Given the description of an element on the screen output the (x, y) to click on. 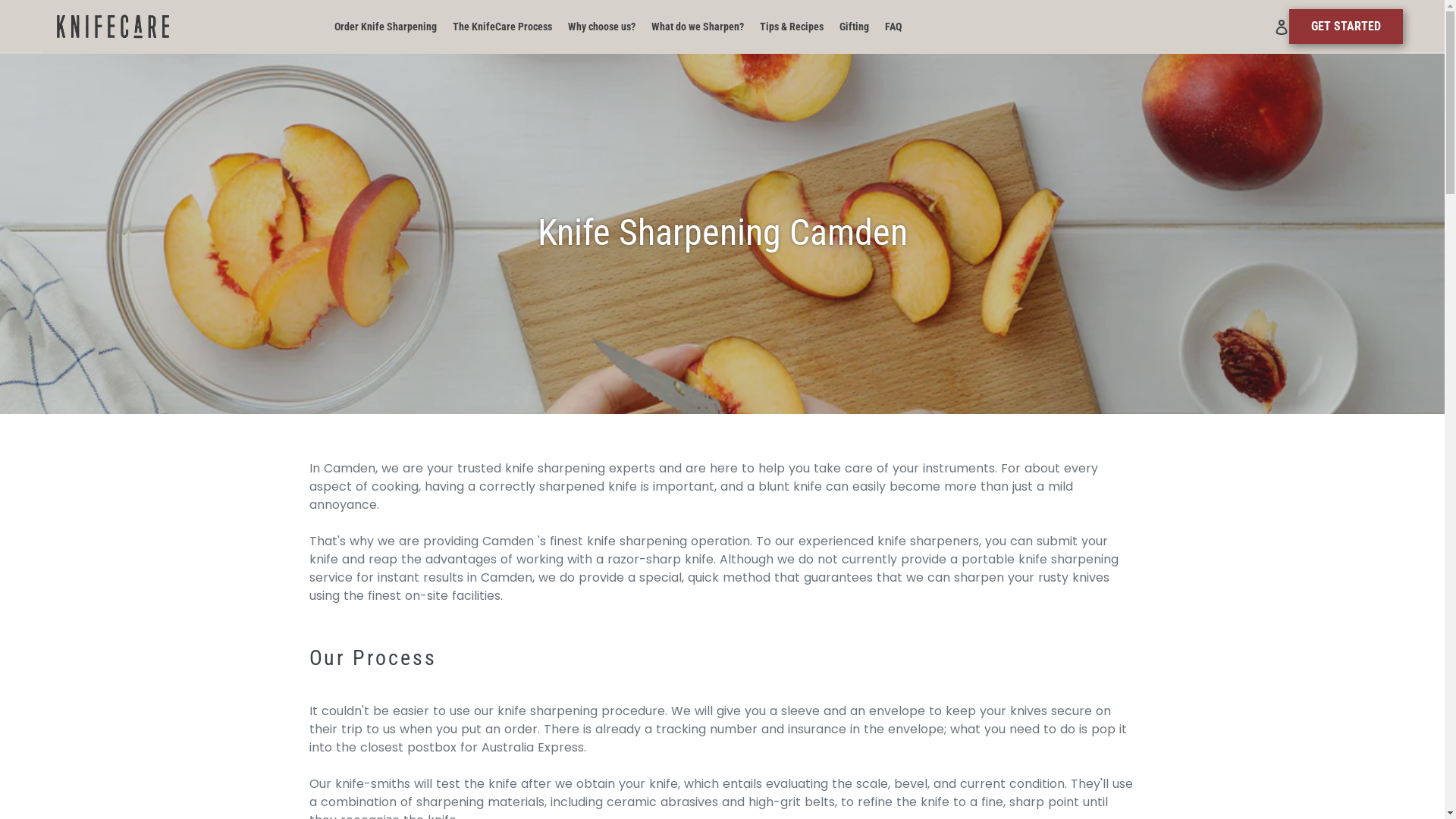
Order Knife Sharpening Element type: text (385, 26)
GET STARTED Element type: text (1345, 26)
Log in Element type: text (1281, 26)
Tips & Recipes Element type: text (791, 26)
FAQ Element type: text (892, 26)
Why choose us? Element type: text (601, 26)
What do we Sharpen? Element type: text (697, 26)
The KnifeCare Process Element type: text (502, 26)
Gifting Element type: text (854, 26)
